Given the description of an element on the screen output the (x, y) to click on. 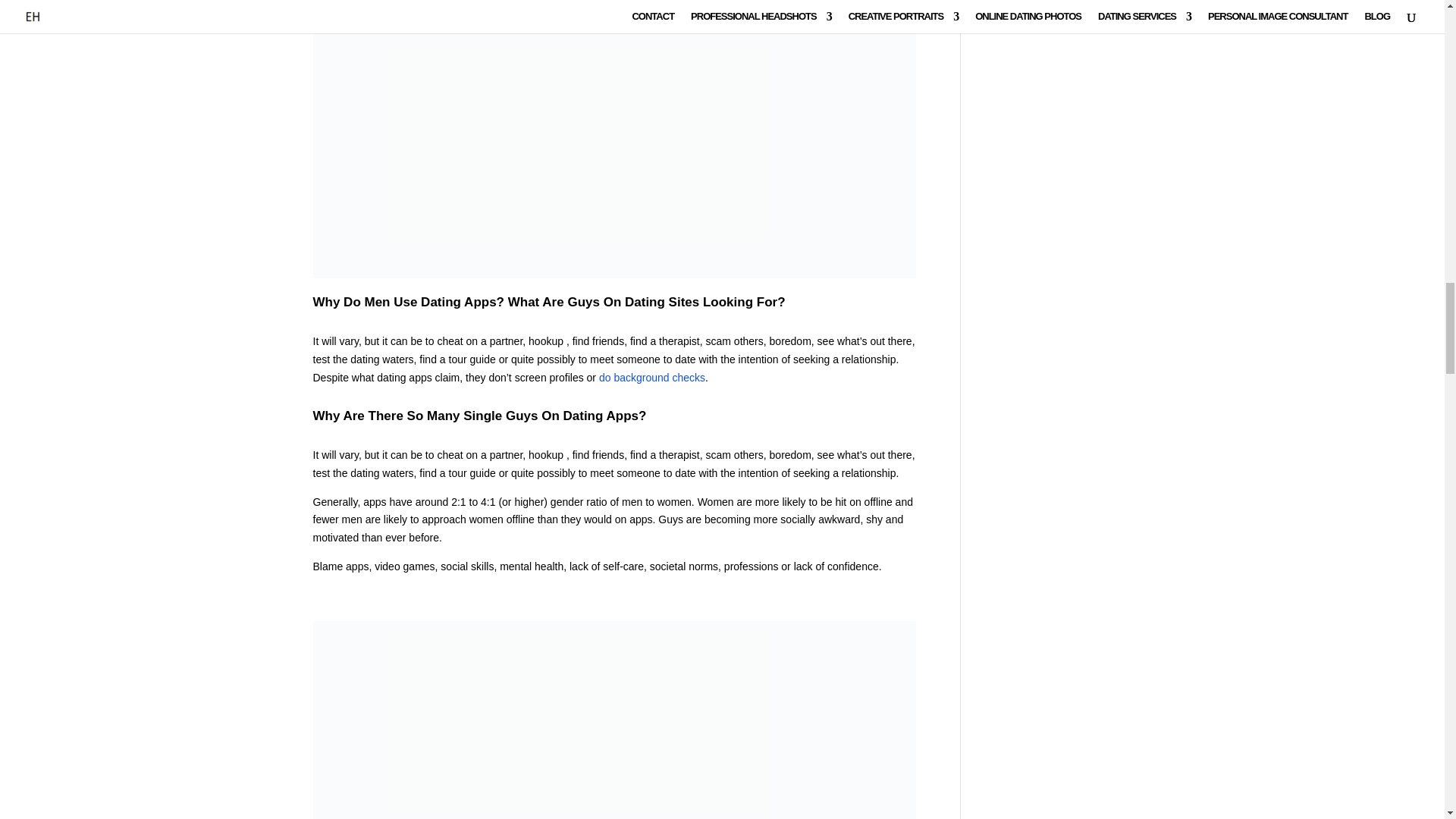
do background checks (651, 377)
Bumble-Bio-Funny-Female-Example-15 (614, 719)
